Given the description of an element on the screen output the (x, y) to click on. 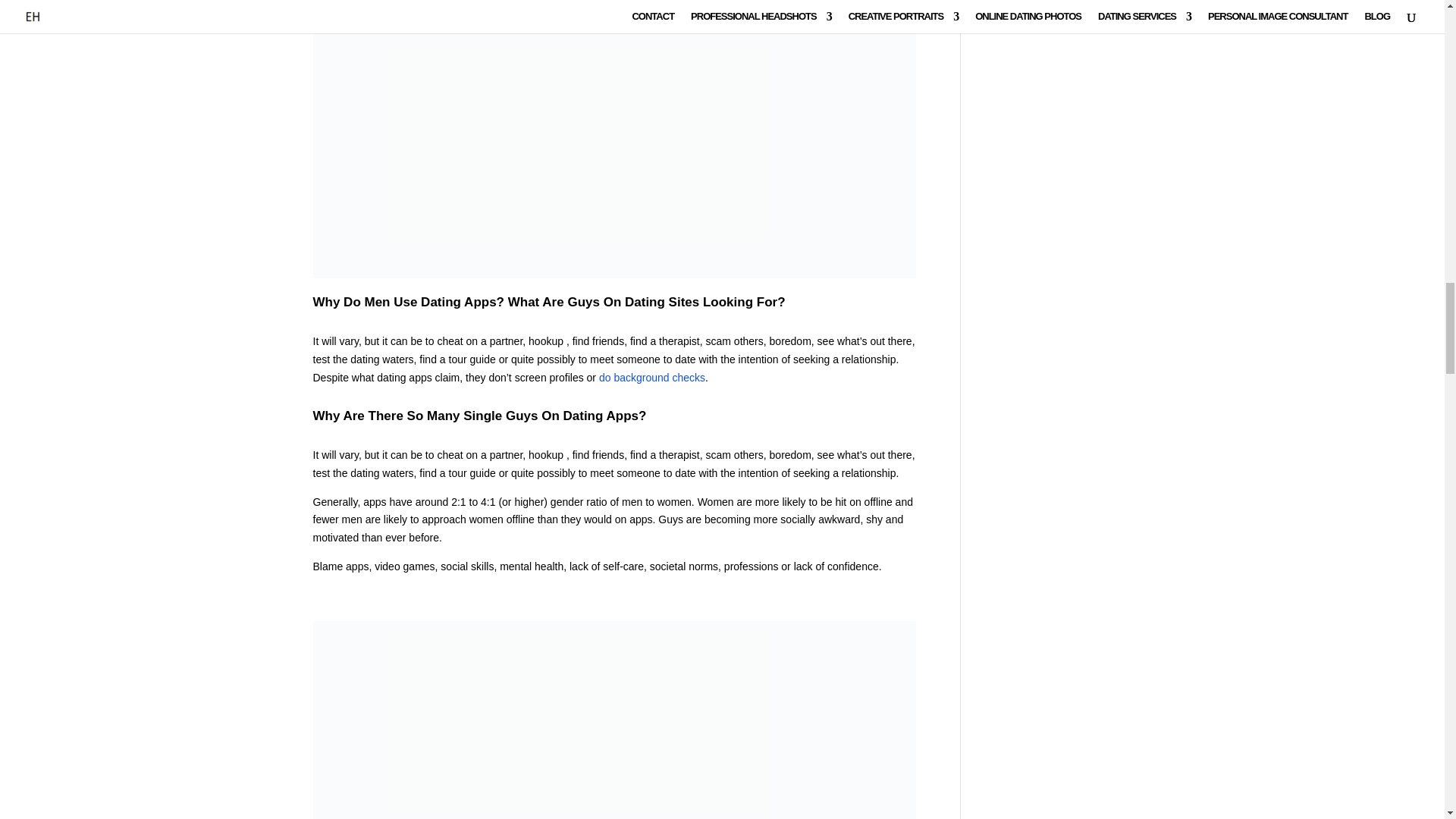
do background checks (651, 377)
Bumble-Bio-Funny-Female-Example-15 (614, 719)
